Given the description of an element on the screen output the (x, y) to click on. 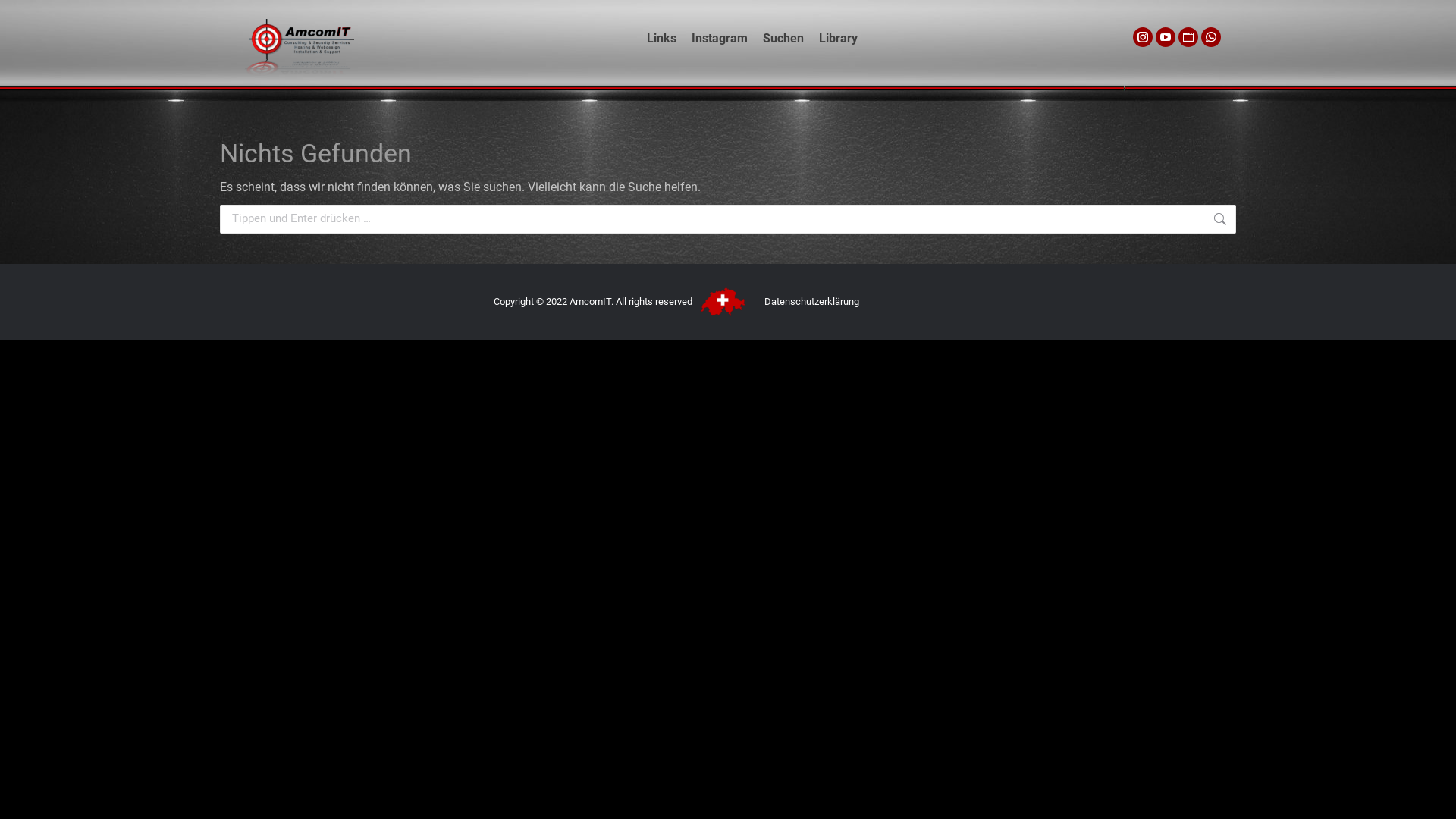
Links Element type: text (661, 37)
Library Element type: text (838, 37)
YouTube page opens in new window Element type: text (1165, 37)
Whatsapp page opens in new window Element type: text (1210, 37)
Los! Element type: text (1261, 220)
Suchen Element type: text (783, 37)
Instagram page opens in new window Element type: text (1142, 37)
Instagram Element type: text (719, 37)
Website page opens in new window Element type: text (1188, 37)
